Given the description of an element on the screen output the (x, y) to click on. 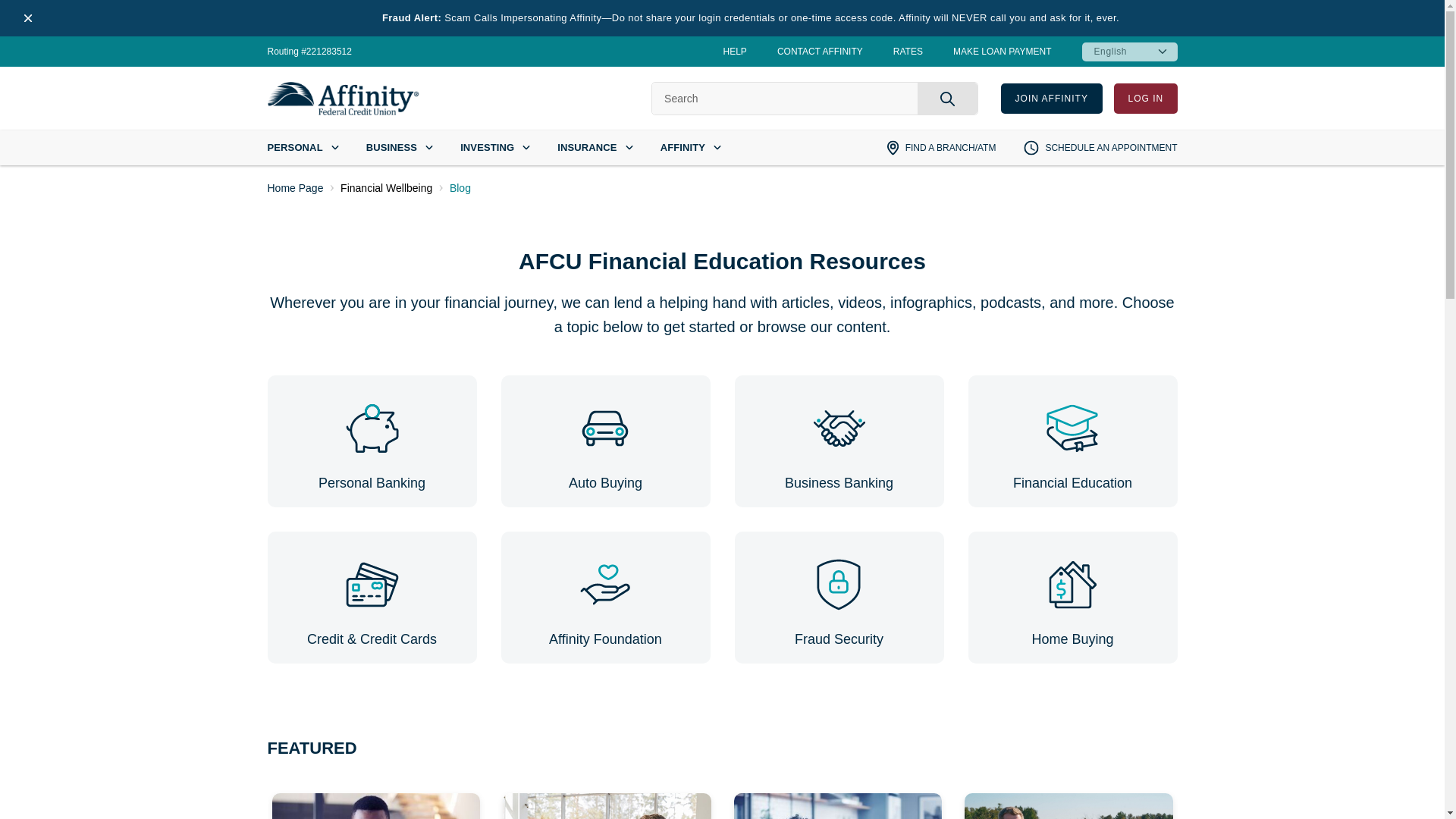
CONTACT AFFINITY (820, 50)
Close Banner (28, 18)
RATES (908, 50)
Search (946, 98)
Home (342, 98)
HELP (734, 50)
LOG IN (1145, 98)
JOIN AFFINITY (1051, 98)
MAKE LOAN PAYMENT (1002, 50)
